Given the description of an element on the screen output the (x, y) to click on. 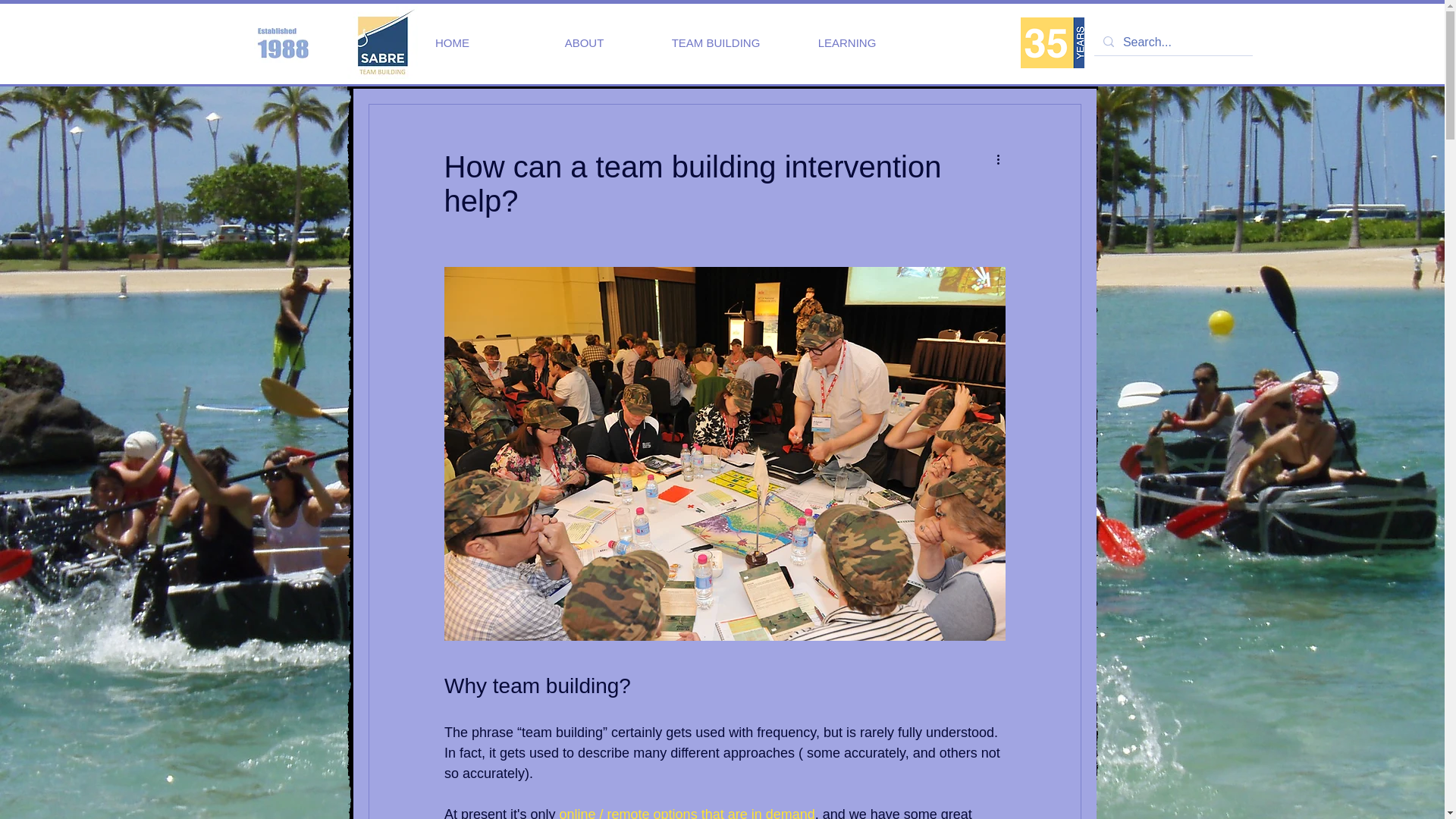
ABOUT (584, 42)
TEAM BUILDING (715, 42)
Team Building Australia since 1988 (1052, 42)
HOME (452, 42)
Team Building by Sabre Corporate Developmen (382, 41)
LEARNING (846, 42)
